Given the description of an element on the screen output the (x, y) to click on. 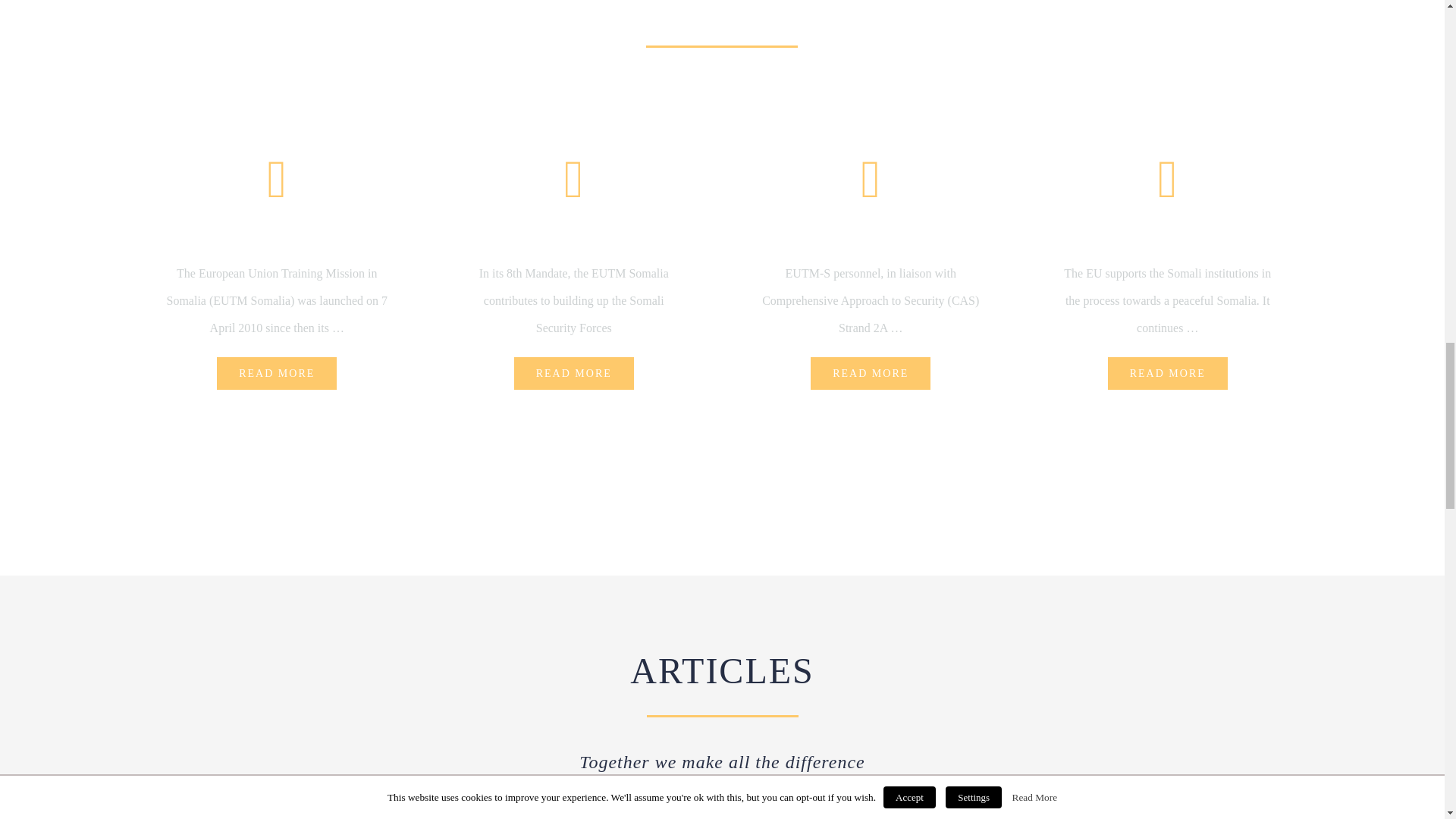
READ MORE (276, 373)
READ MORE (1167, 373)
READ MORE (573, 373)
READ MORE (870, 373)
